Given the description of an element on the screen output the (x, y) to click on. 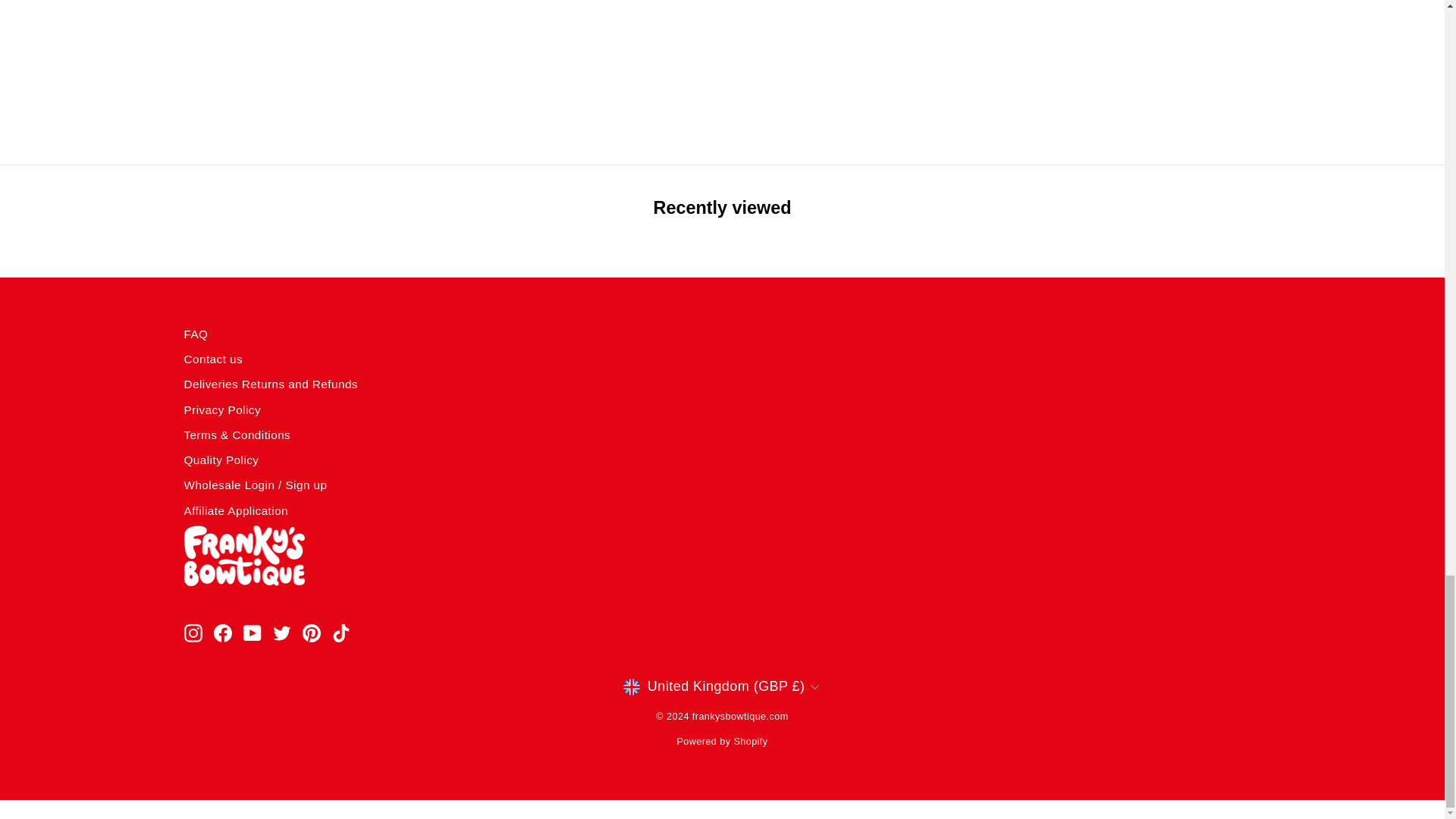
frankysbowtique.com on Twitter (282, 633)
frankysbowtique.com on Facebook (222, 633)
frankysbowtique.com on YouTube (251, 633)
frankysbowtique.com on Instagram (192, 633)
